Given the description of an element on the screen output the (x, y) to click on. 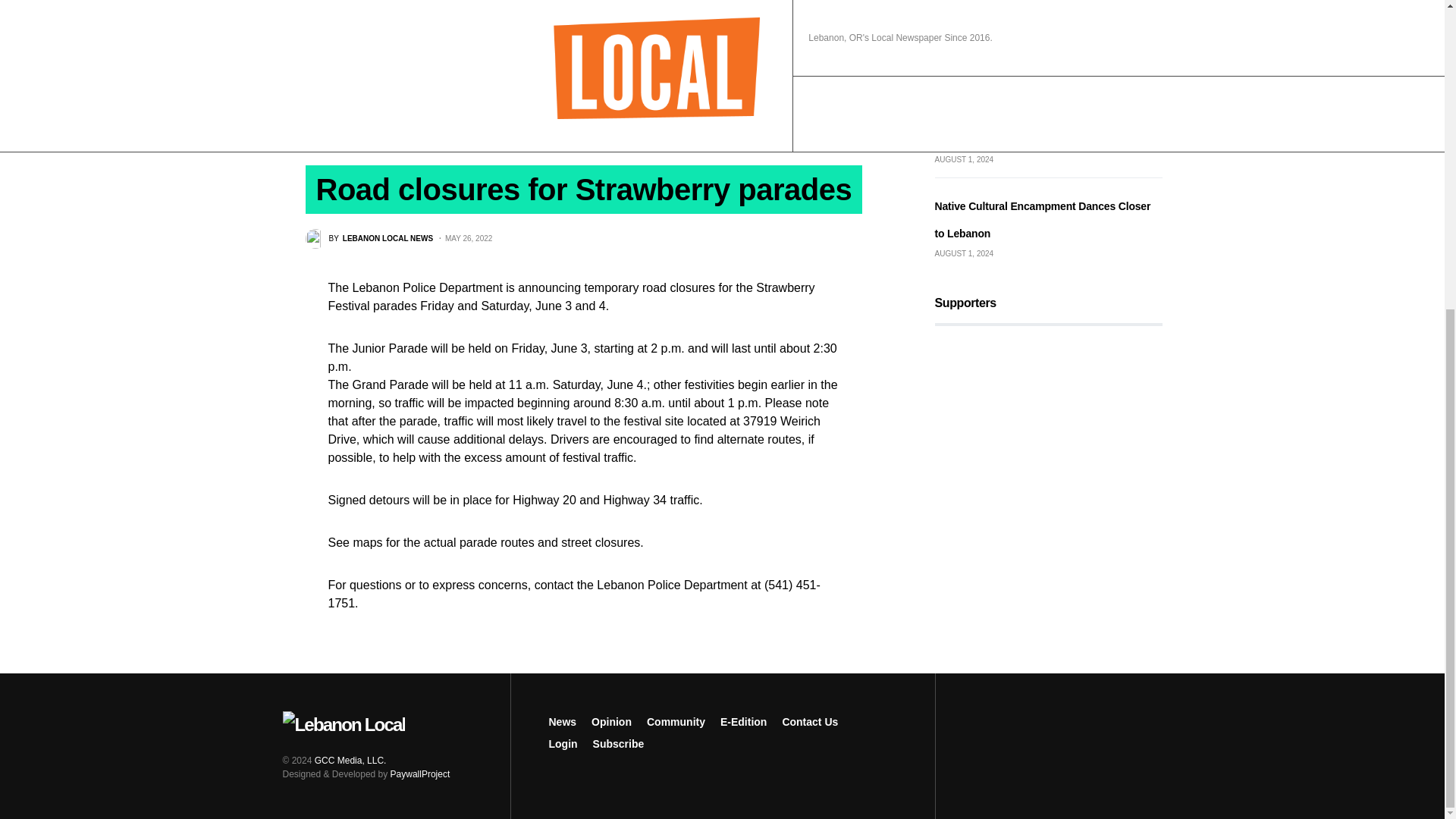
View all posts by Lebanon Local News (368, 238)
